Given the description of an element on the screen output the (x, y) to click on. 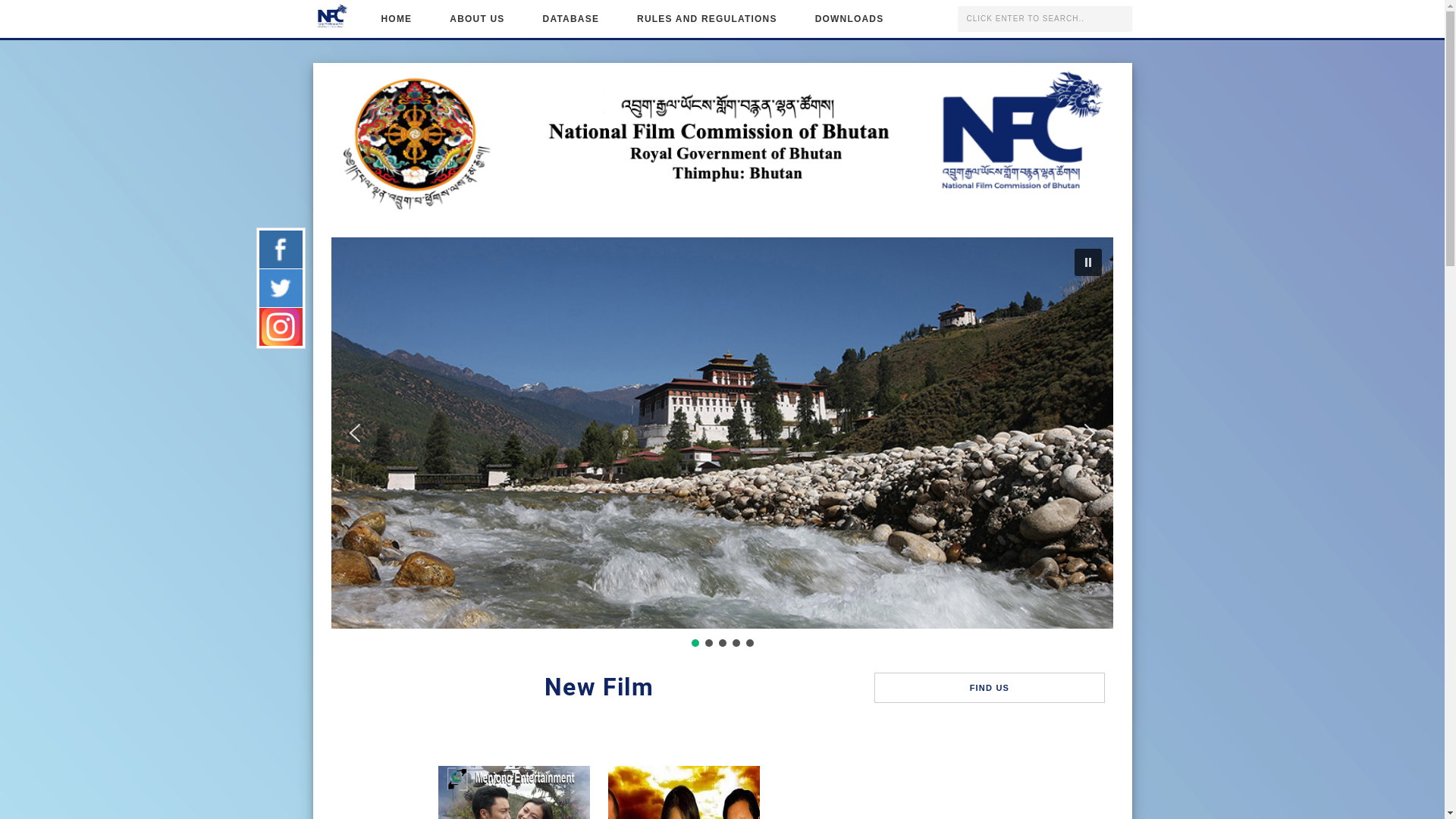
DATABASE Element type: text (571, 18)
HOME Element type: text (396, 18)
DOWNLOADS Element type: text (849, 18)
ABOUT US Element type: text (476, 18)
RULES AND REGULATIONS Element type: text (707, 18)
